Given the description of an element on the screen output the (x, y) to click on. 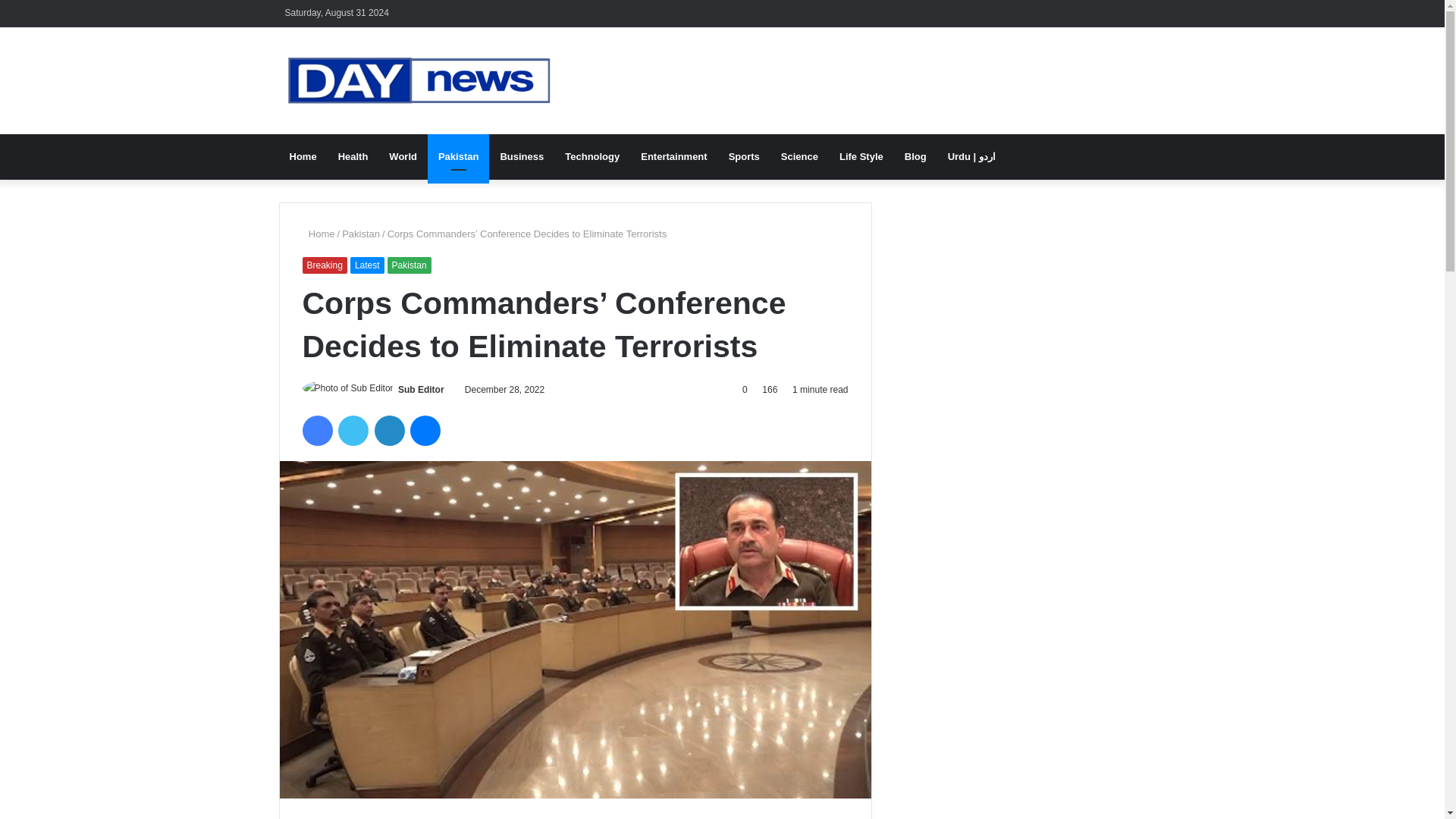
LinkedIn (389, 430)
Health (352, 156)
Science (799, 156)
Sub Editor (420, 388)
Messenger (425, 430)
Life Style (860, 156)
Home (303, 156)
World (403, 156)
Pakistan (408, 265)
Sports (743, 156)
